Given the description of an element on the screen output the (x, y) to click on. 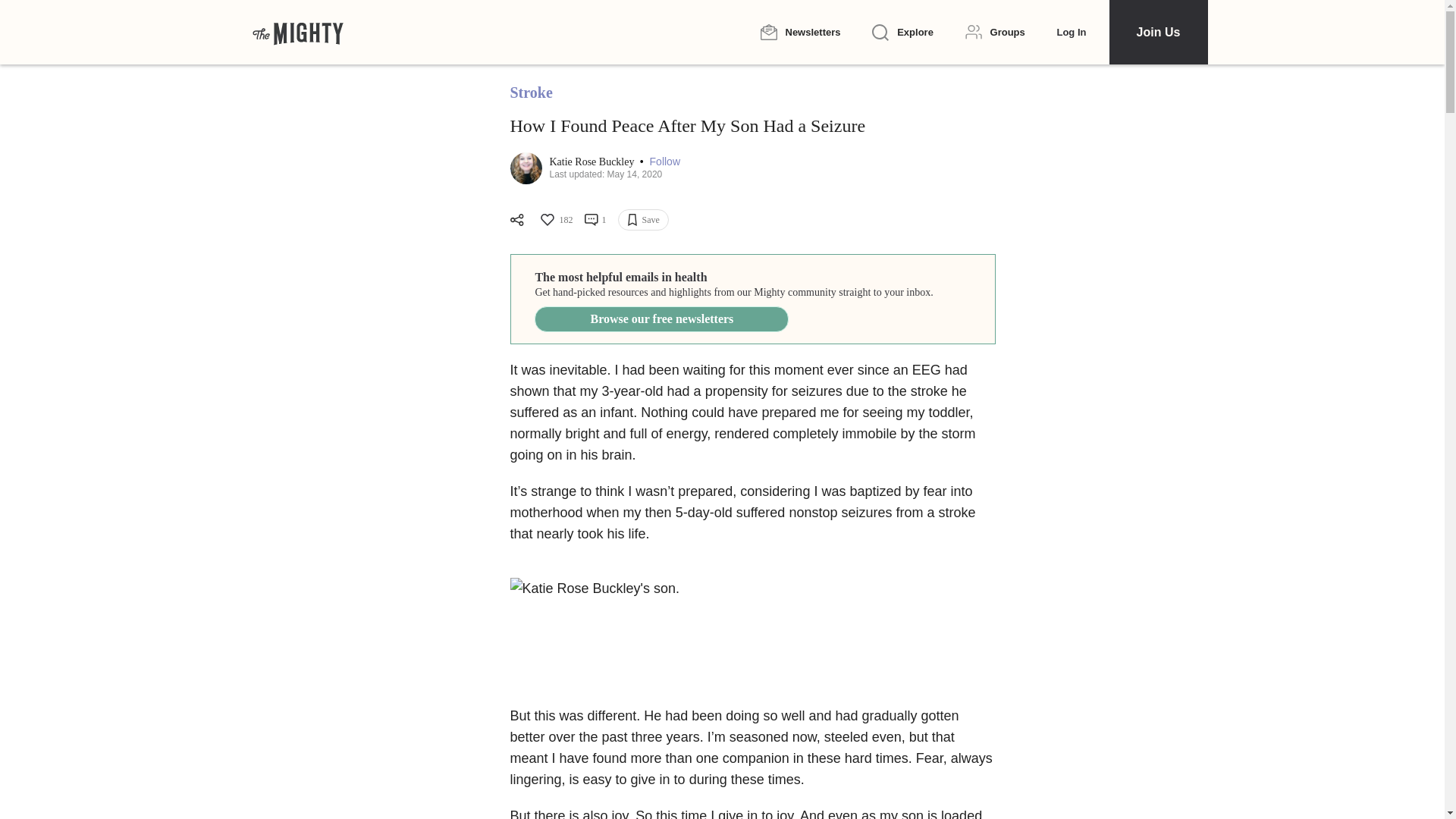
Follow (664, 161)
Stroke (530, 92)
Join Us (1157, 32)
Browse our free newsletters (661, 319)
Save (642, 219)
Newsletters (800, 31)
Katie Rose Buckley (592, 161)
Explore (902, 32)
1 (594, 219)
Groups (995, 32)
